Given the description of an element on the screen output the (x, y) to click on. 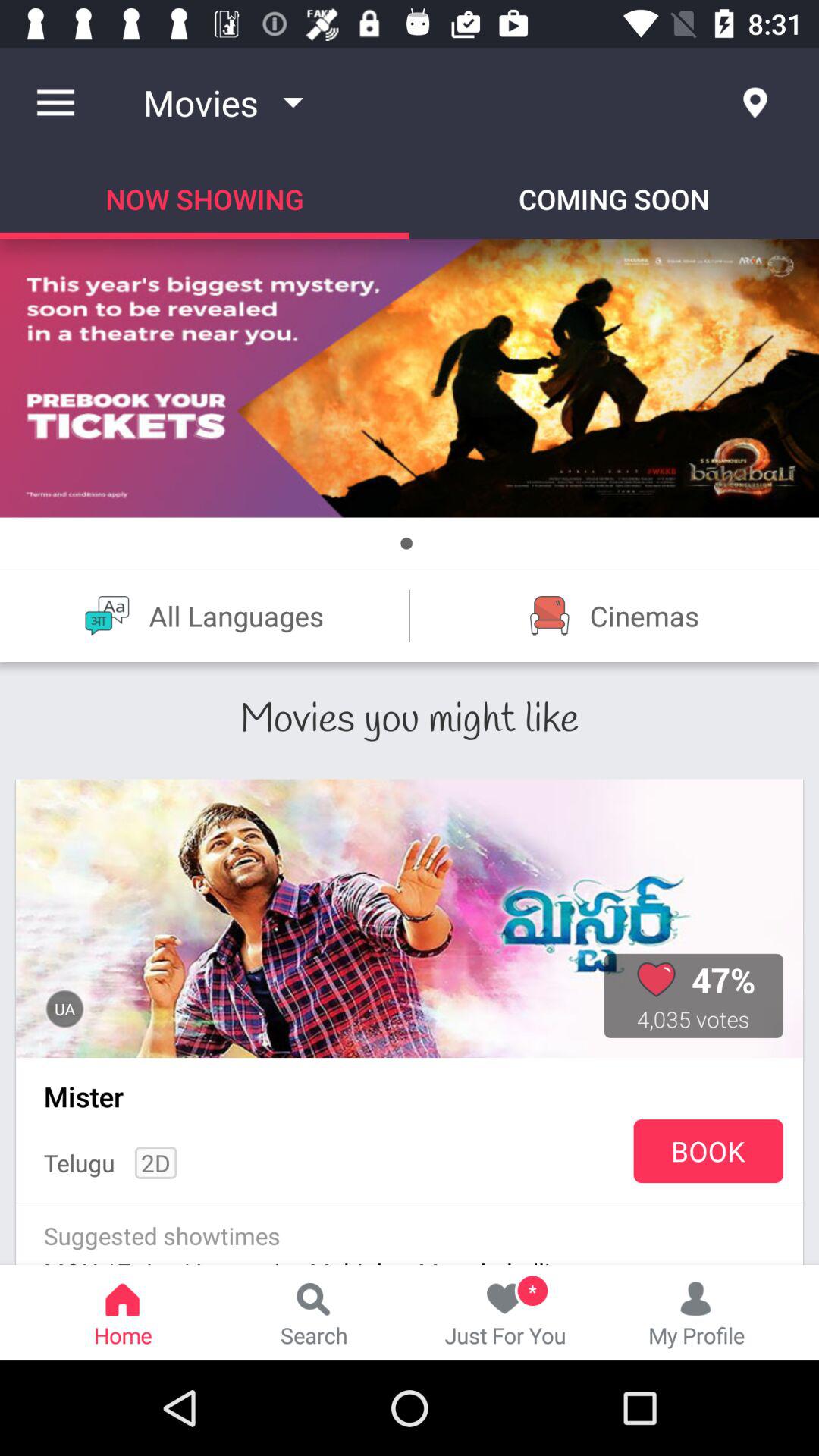
click on home icon (122, 1312)
